Given the description of an element on the screen output the (x, y) to click on. 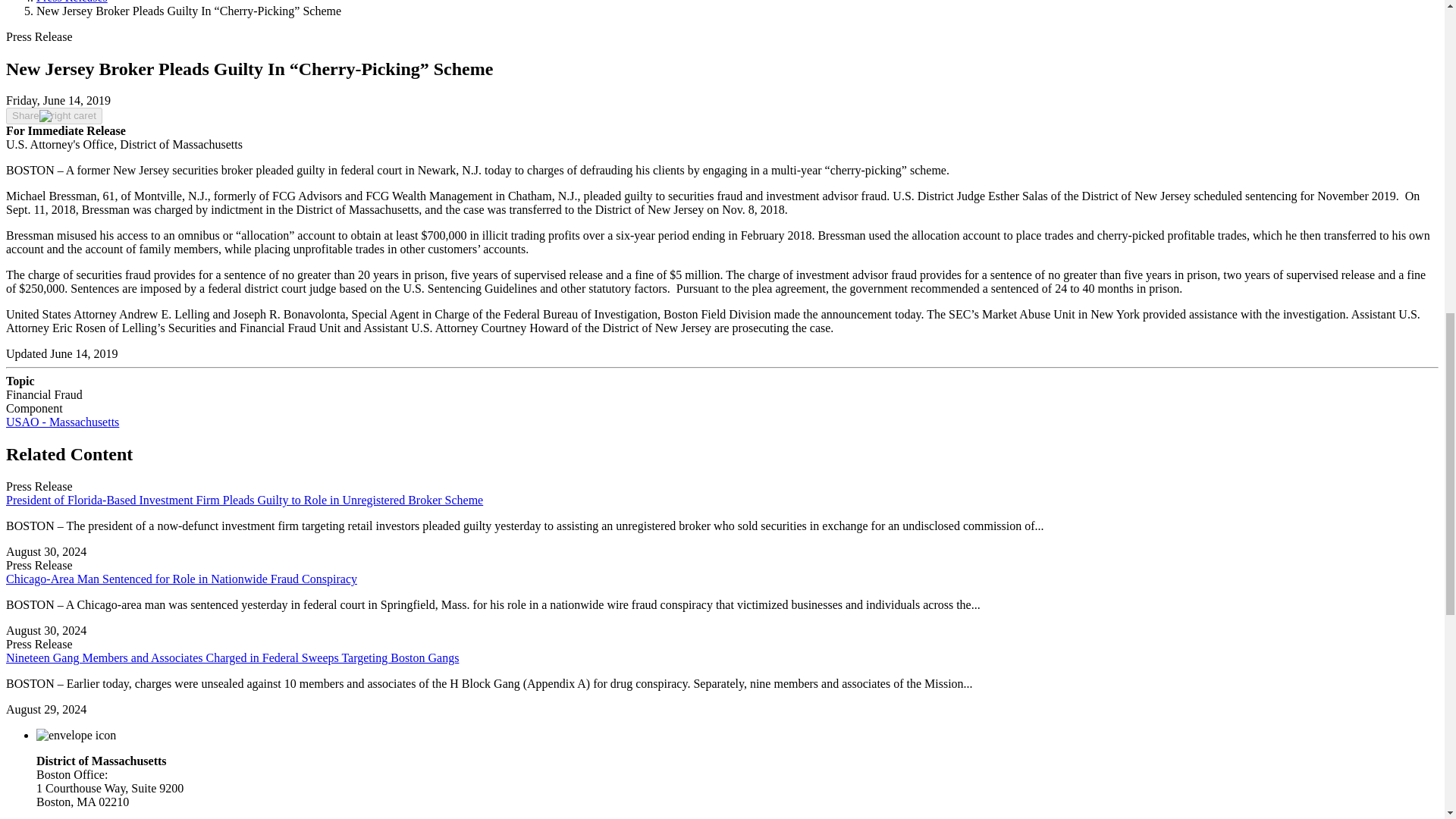
Press Releases (71, 2)
USAO - Massachusetts (62, 421)
Share (53, 115)
